Given the description of an element on the screen output the (x, y) to click on. 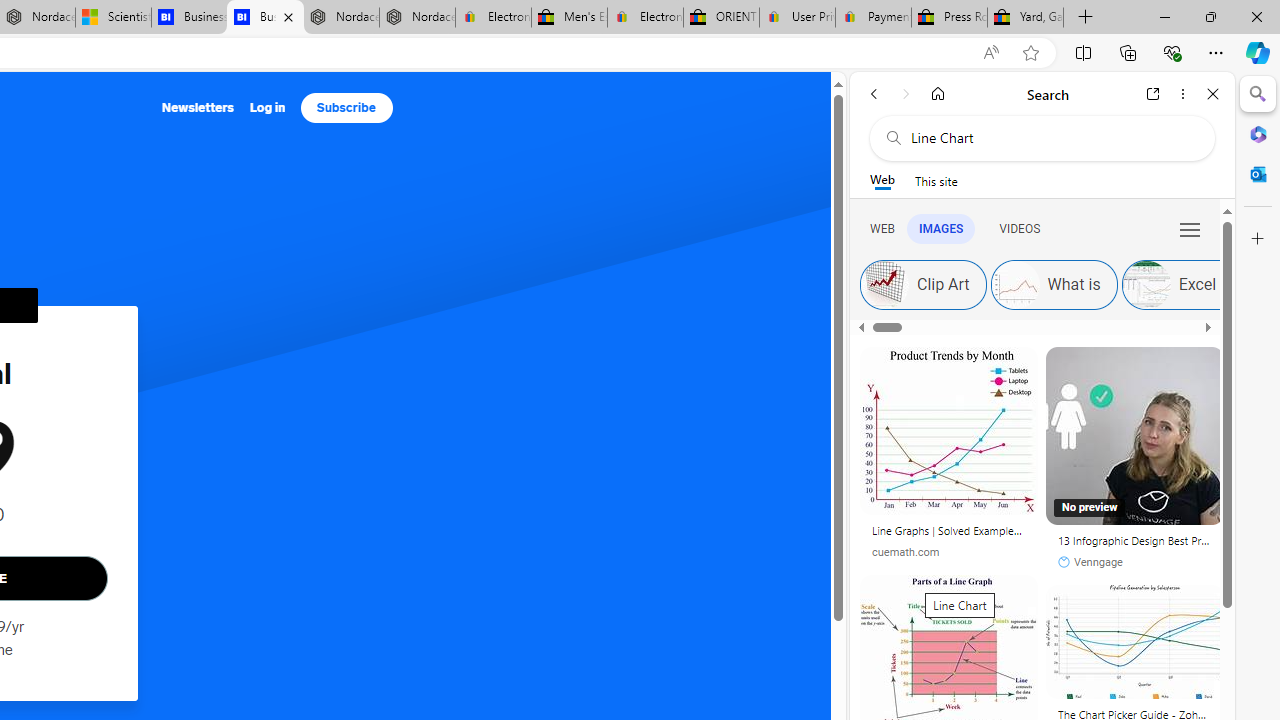
Preferences (1189, 228)
cuemath.com (905, 551)
cuemath.com (948, 551)
